Given the description of an element on the screen output the (x, y) to click on. 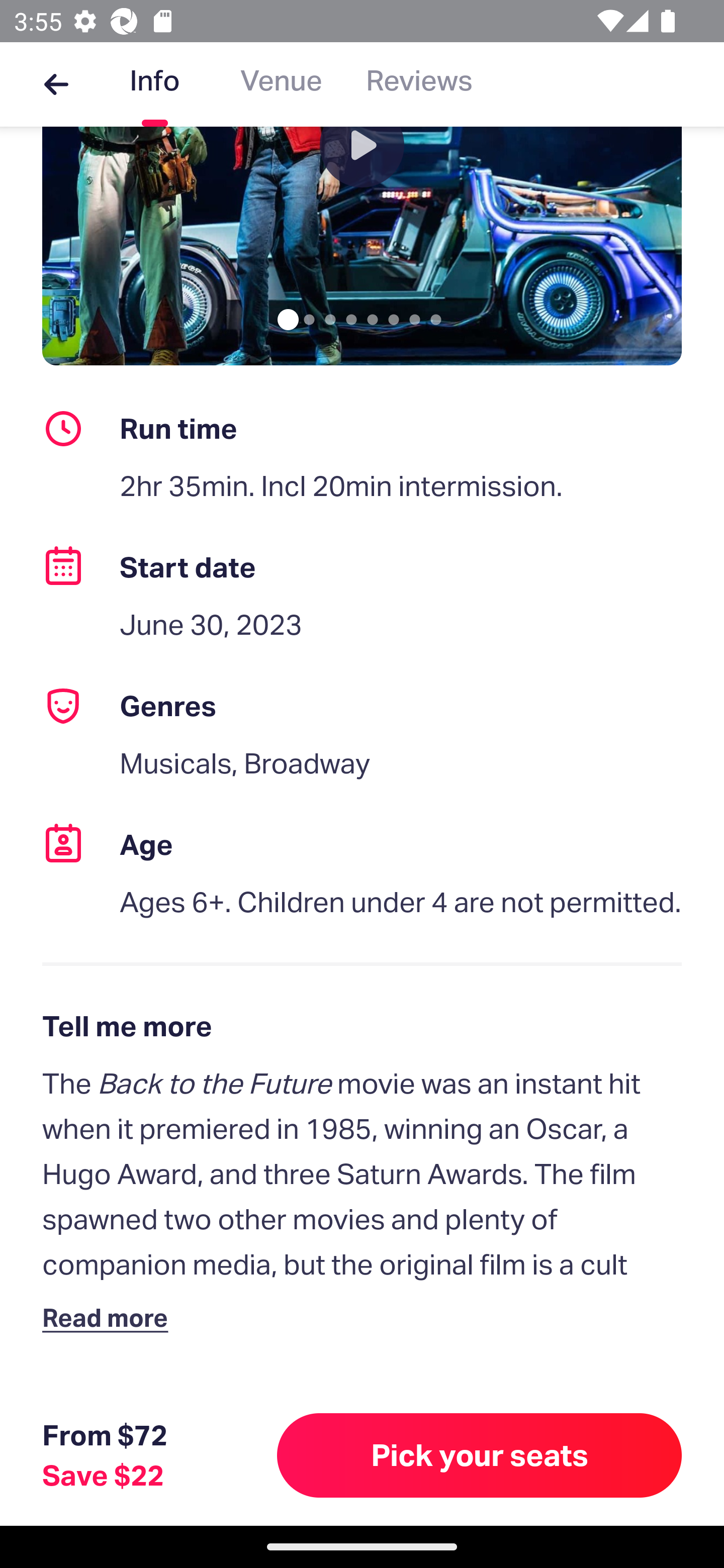
Venue (280, 84)
Reviews (419, 84)
Tell me more (361, 1026)
Read more (109, 1317)
Pick your seats (479, 1454)
